Given the description of an element on the screen output the (x, y) to click on. 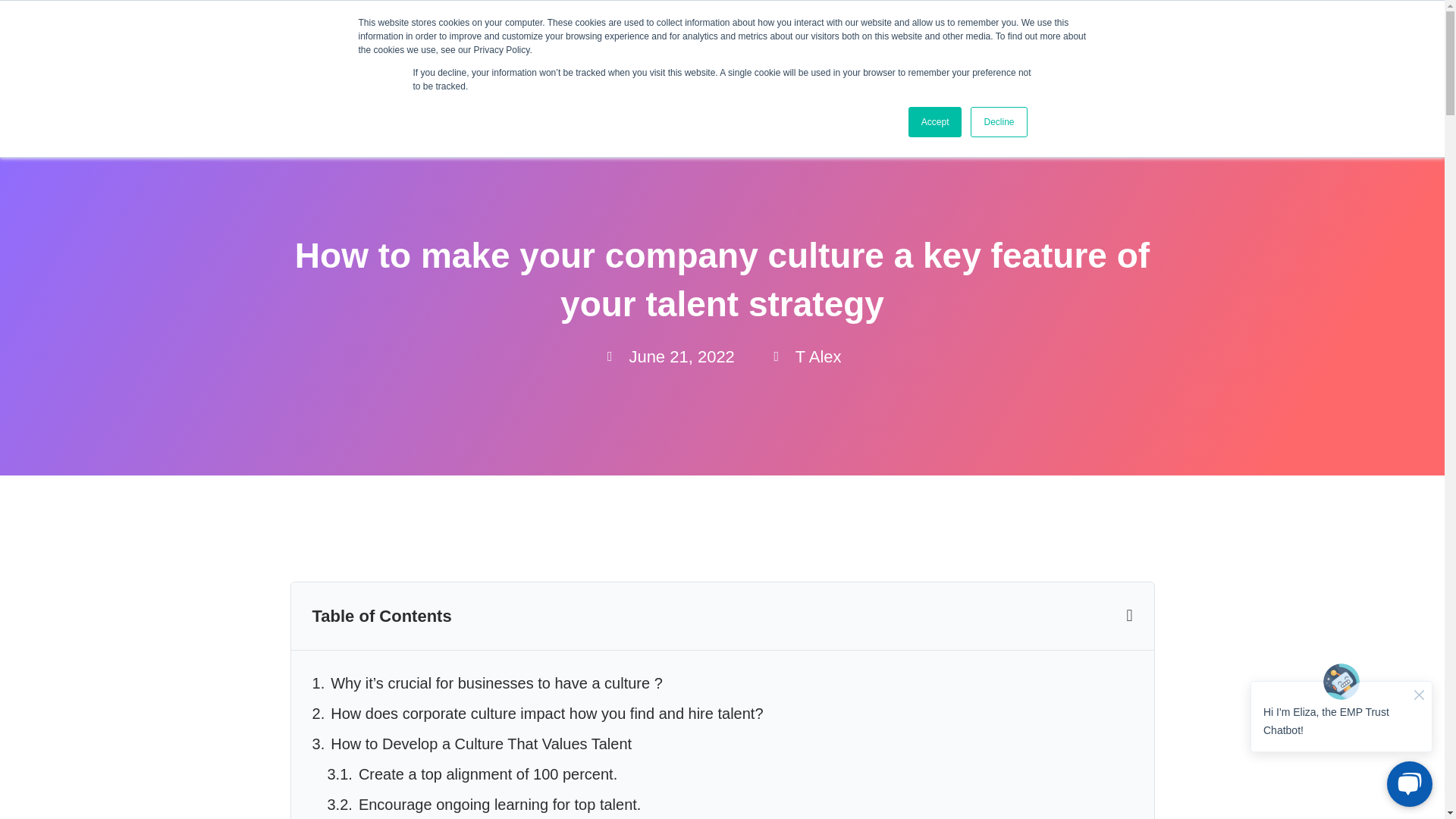
Support Center (477, 20)
Decline (998, 122)
Request Demo (1067, 82)
Resources (792, 82)
Company (910, 82)
Start Free Trial (1253, 82)
240.252.4007 (341, 20)
Products (675, 82)
Accept (935, 122)
